Given the description of an element on the screen output the (x, y) to click on. 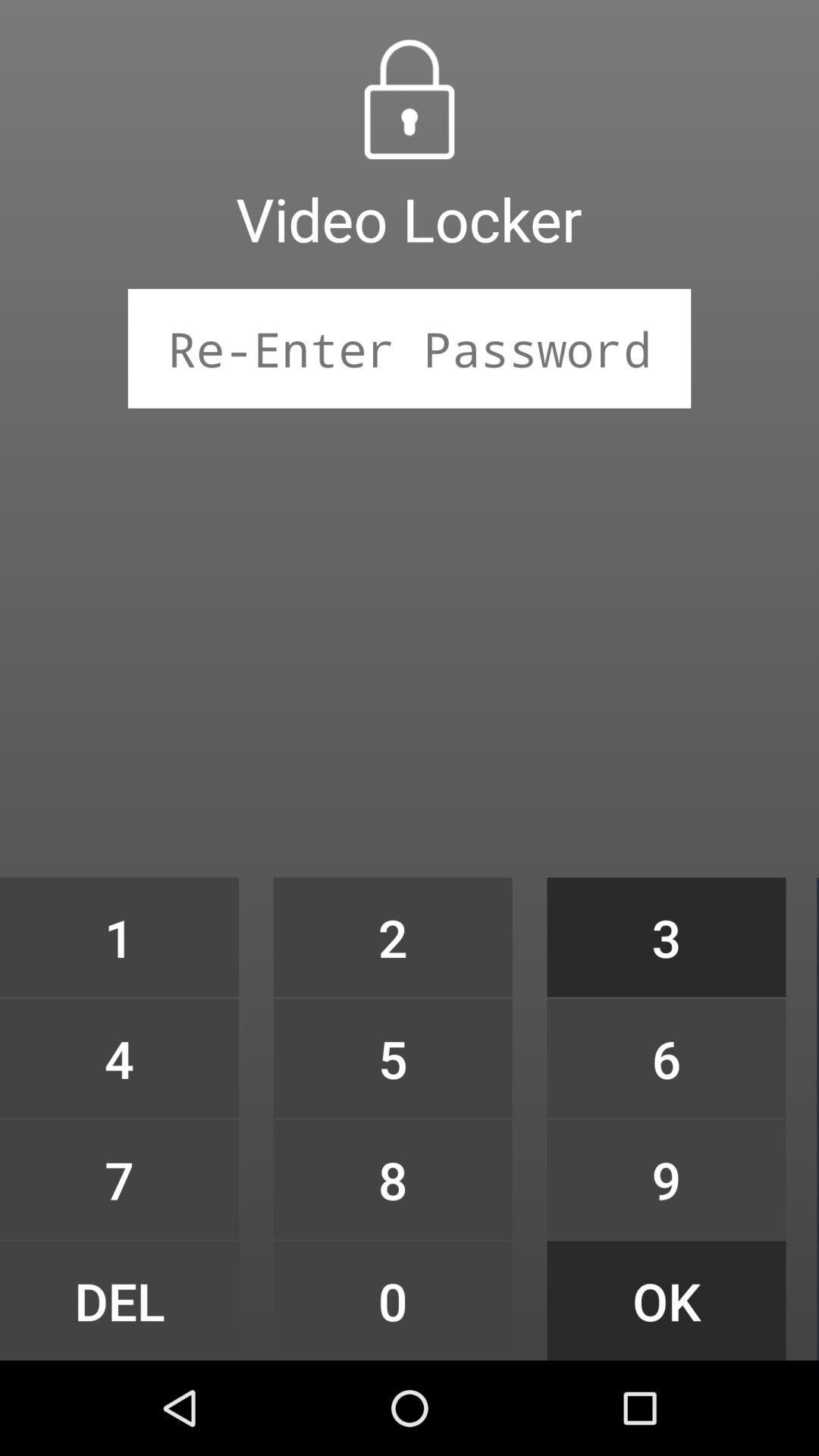
tap the item below the 5 (392, 1179)
